Given the description of an element on the screen output the (x, y) to click on. 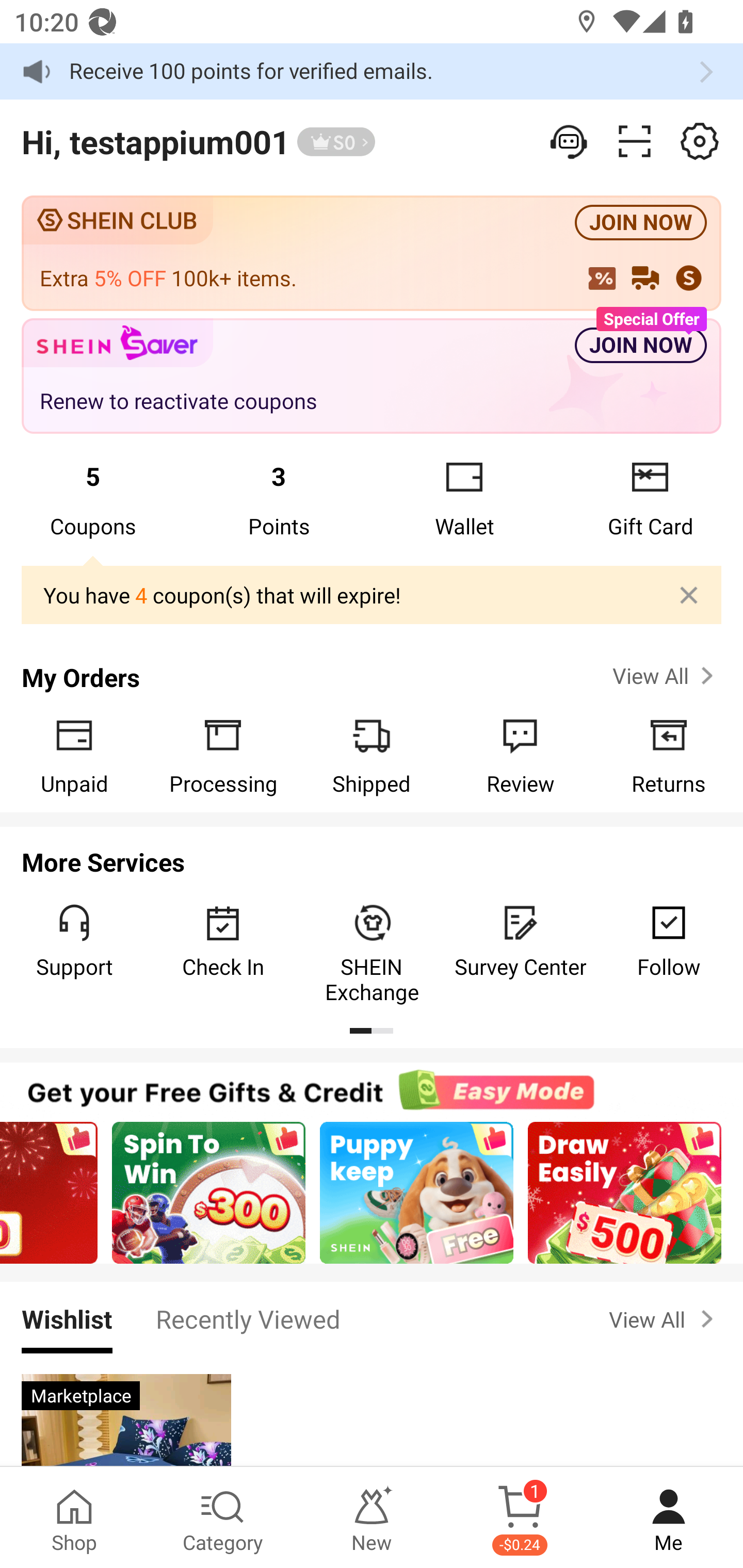
Receive 100 points for verified emails. (371, 70)
Hi, testappium001 (155, 141)
Setting (569, 141)
Scan QR Code (634, 141)
Setting (699, 141)
SHEIN VIP (336, 141)
JOIN NOW Extra 5% OFF 100k+ items. (371, 253)
JOIN NOW (640, 222)
Renew to reactivate coupons JOIN NOW Special Offer (371, 376)
JOIN NOW (640, 345)
5 Coupons 3 Points Wallet Gift Card (371, 497)
3 Points (278, 497)
Wallet (464, 497)
Gift Card (650, 497)
You have 4 coupon(s) that will expire! Close (371, 596)
Close (688, 594)
View All (664, 675)
Unpaid (74, 754)
Processing (222, 754)
Shipped (371, 754)
Review (519, 754)
Returns (668, 754)
More Services (371, 855)
Support (74, 940)
Check In (222, 940)
SHEIN Exchange (371, 952)
Survey Center (519, 940)
Follow (668, 940)
Wishlist Recently Viewed View All (371, 1318)
Recently Viewed (248, 1318)
View All (664, 1319)
Shop (74, 1517)
Category (222, 1517)
New (371, 1517)
Cart 1 -$0.24 (519, 1517)
